Given the description of an element on the screen output the (x, y) to click on. 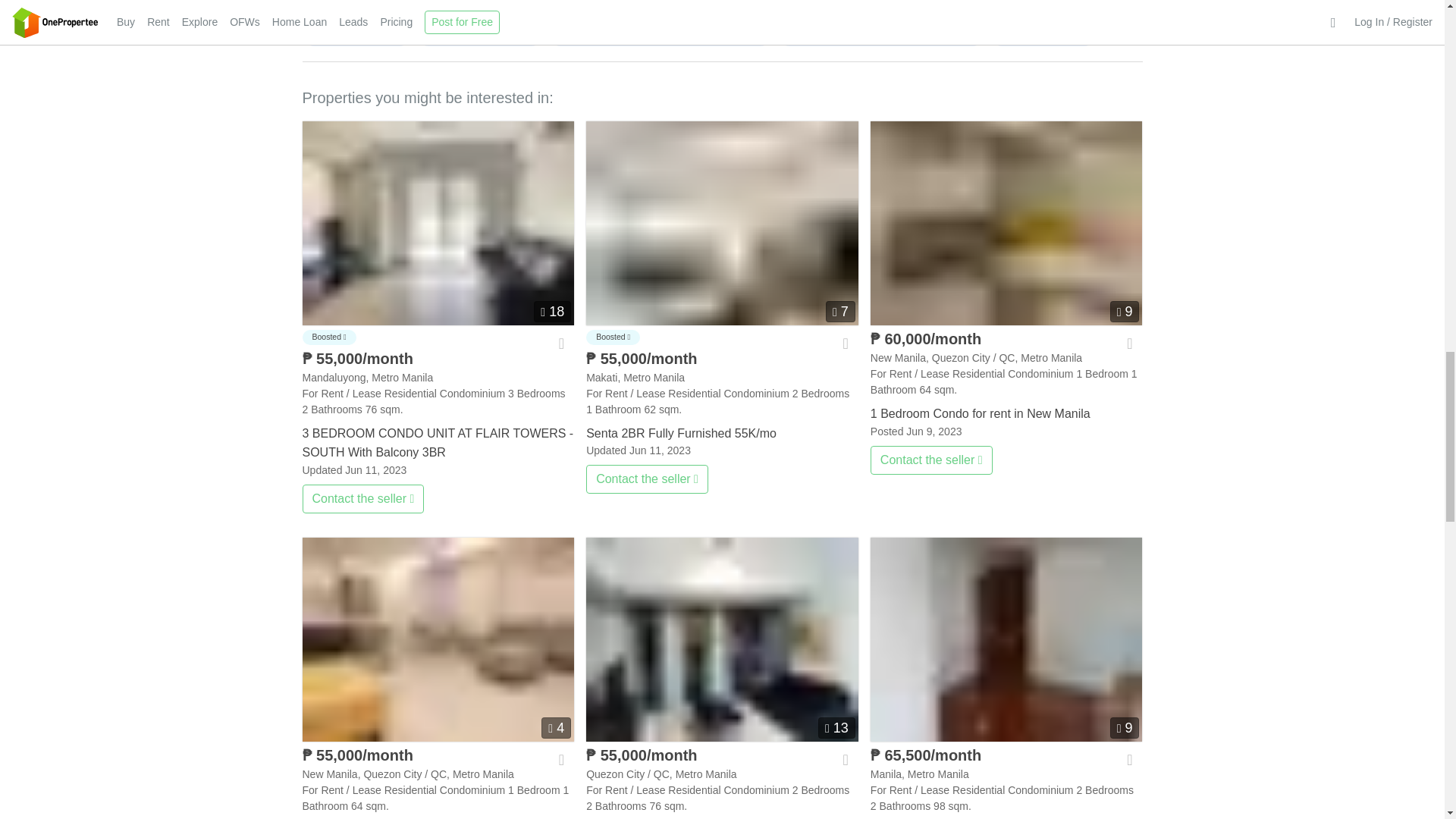
1 Bedroom Condo for rent in New Manila (1006, 411)
1 Bedroom Condo for rent in New Manila (1006, 223)
